Given the description of an element on the screen output the (x, y) to click on. 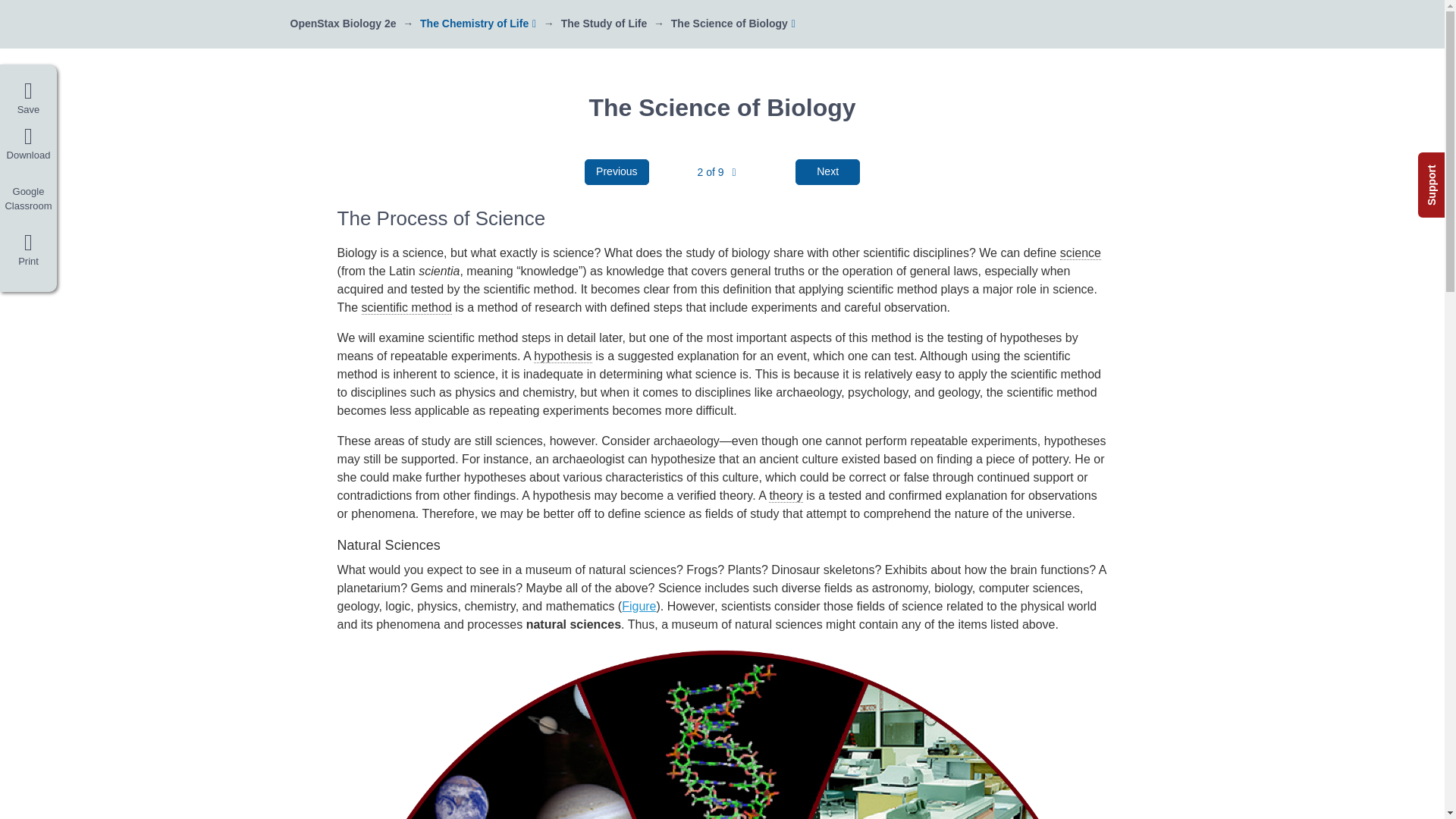
Previous (617, 171)
Previous (617, 171)
suggested explanation for an observation, which one can test (563, 356)
Print (28, 253)
Download (28, 144)
Next (827, 171)
2 of 9 (716, 172)
Download (28, 144)
Save (28, 98)
The Chemistry of Life (474, 23)
